Given the description of an element on the screen output the (x, y) to click on. 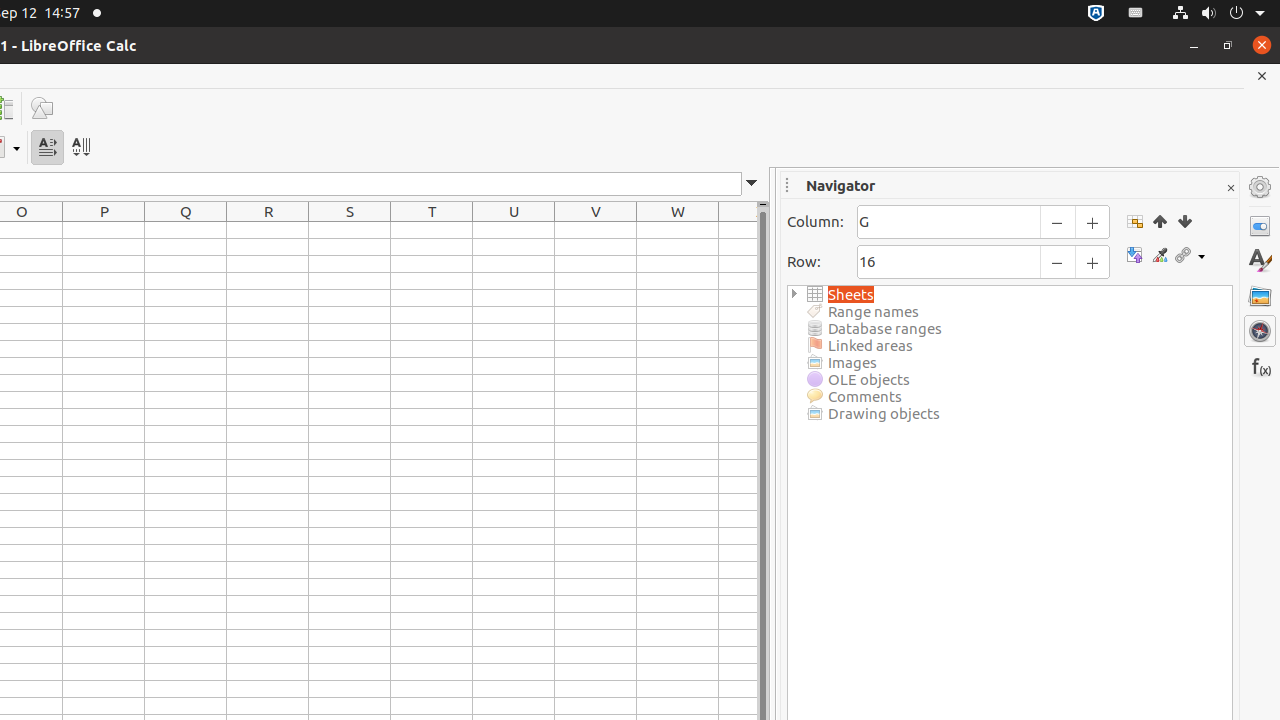
P1 Element type: table-cell (104, 230)
Draw Functions Element type: toggle-button (41, 108)
R1 Element type: table-cell (268, 230)
Gallery Element type: radio-button (1260, 296)
W1 Element type: table-cell (678, 230)
